Given the description of an element on the screen output the (x, y) to click on. 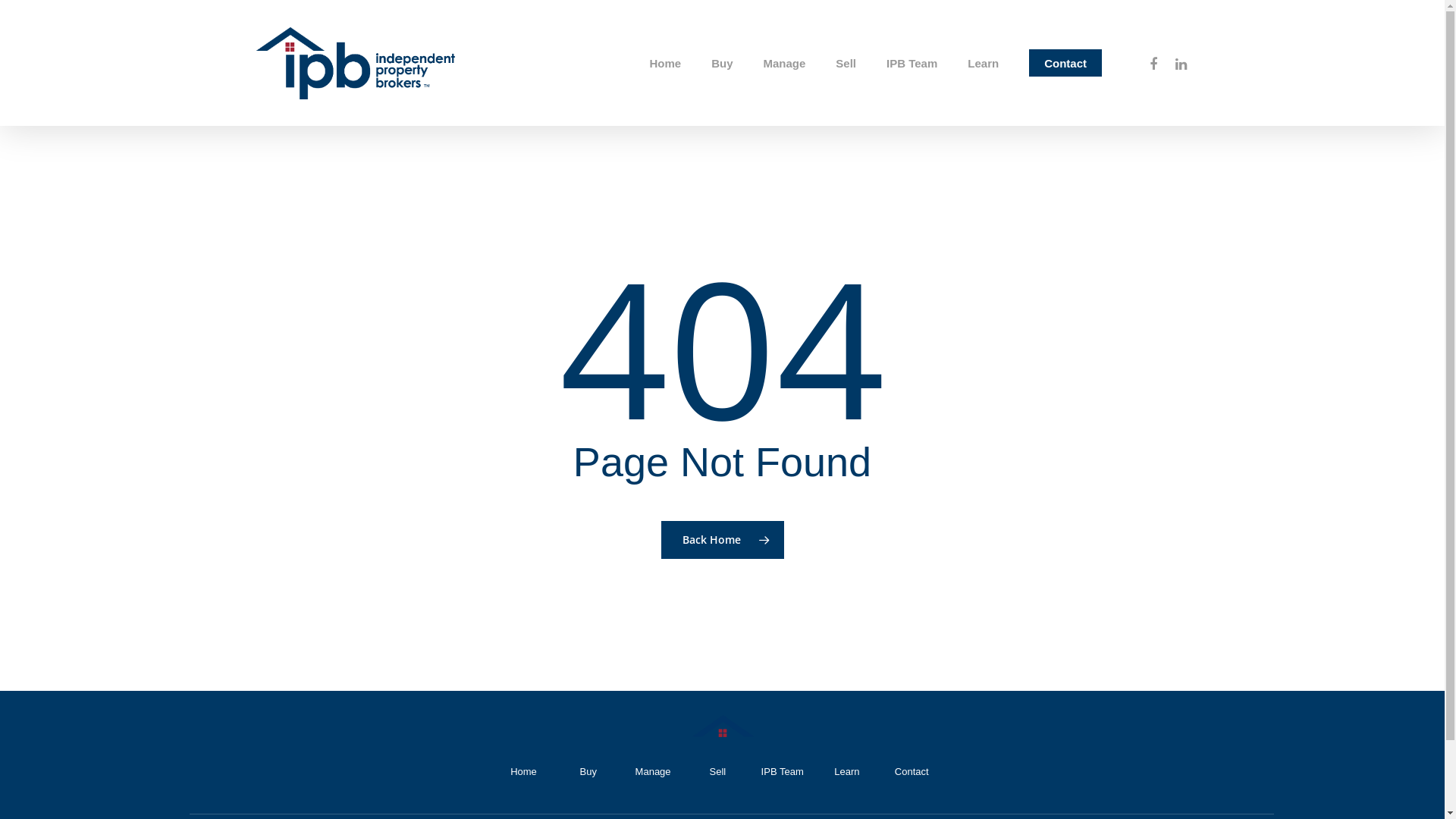
facebook Element type: text (1153, 62)
Buy Element type: text (587, 771)
Manage Element type: text (652, 771)
Contact Element type: text (911, 771)
Sell Element type: text (717, 771)
Buy Element type: text (721, 63)
Manage Element type: text (783, 63)
IPB Team Element type: text (911, 63)
Learn Element type: text (982, 63)
Sell Element type: text (845, 63)
Back Home Element type: text (722, 539)
Contact Element type: text (1065, 63)
Home Element type: text (523, 771)
linkedin Element type: text (1180, 62)
Learn Element type: text (846, 771)
Home Element type: text (664, 63)
IPB Team Element type: text (781, 771)
